Given the description of an element on the screen output the (x, y) to click on. 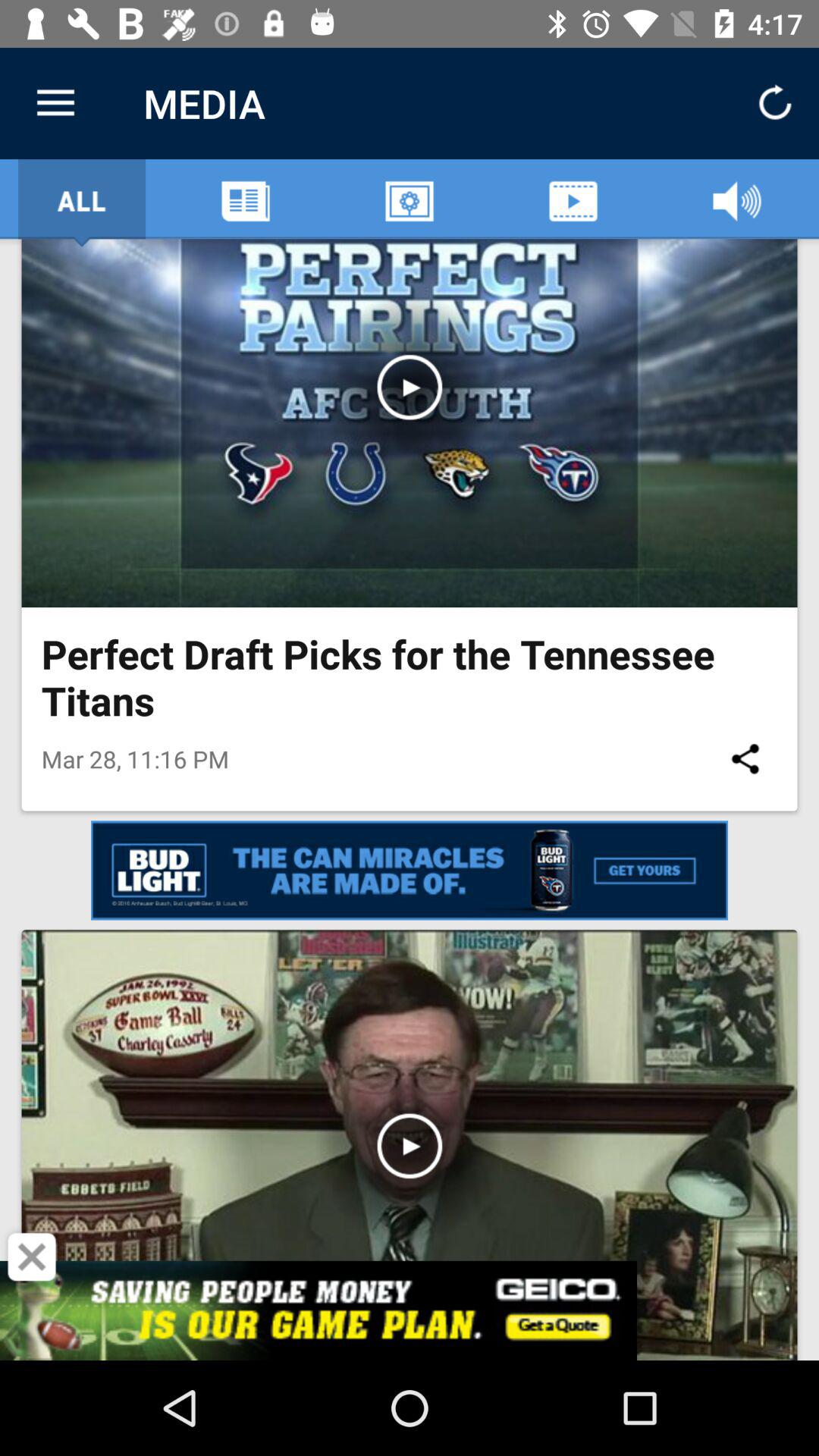
turn off the icon to the right of mar 28 11 icon (745, 758)
